Given the description of an element on the screen output the (x, y) to click on. 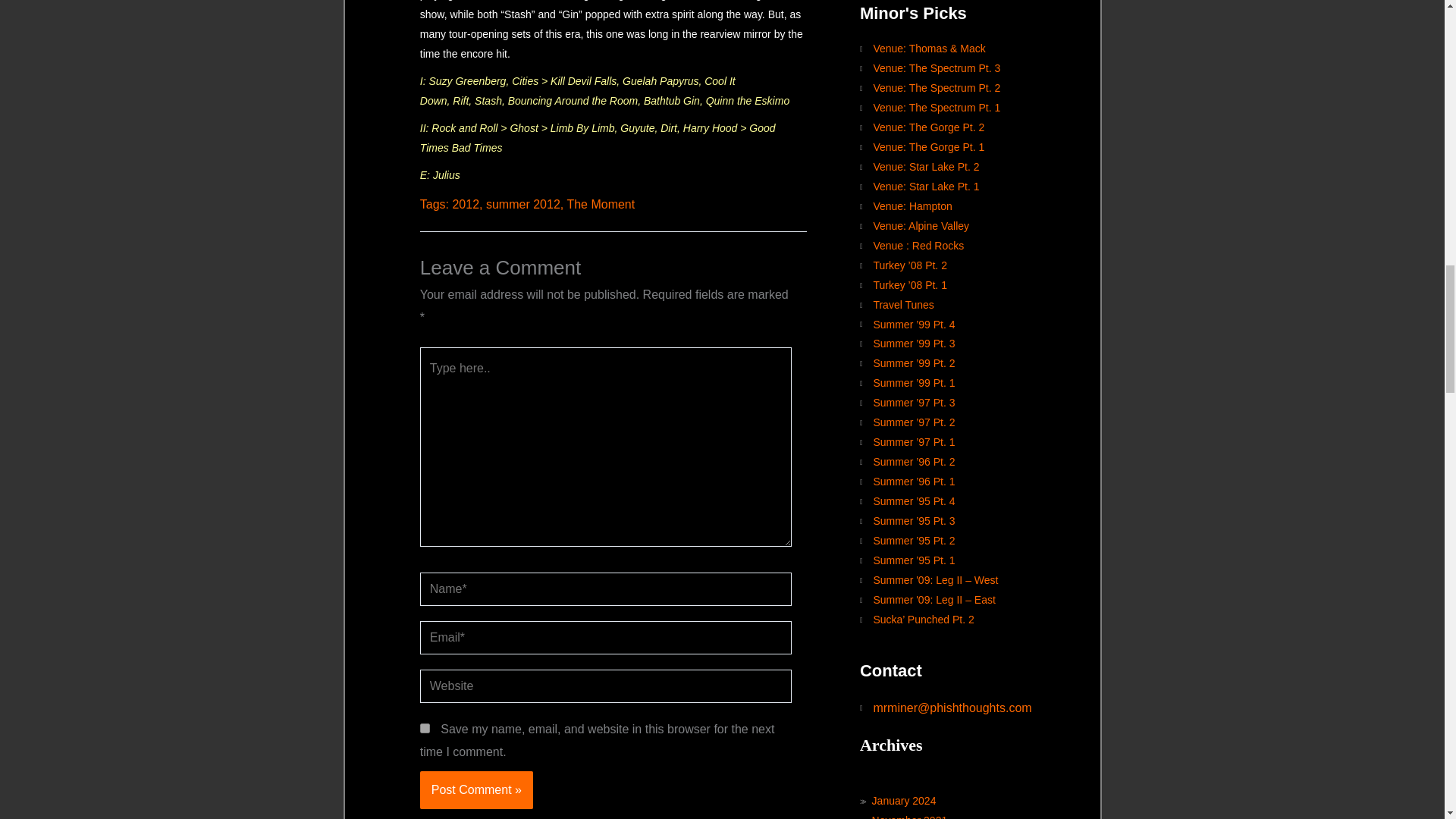
yes (424, 728)
summer 2012 (523, 204)
2012 (465, 204)
The Moment (600, 204)
